Given the description of an element on the screen output the (x, y) to click on. 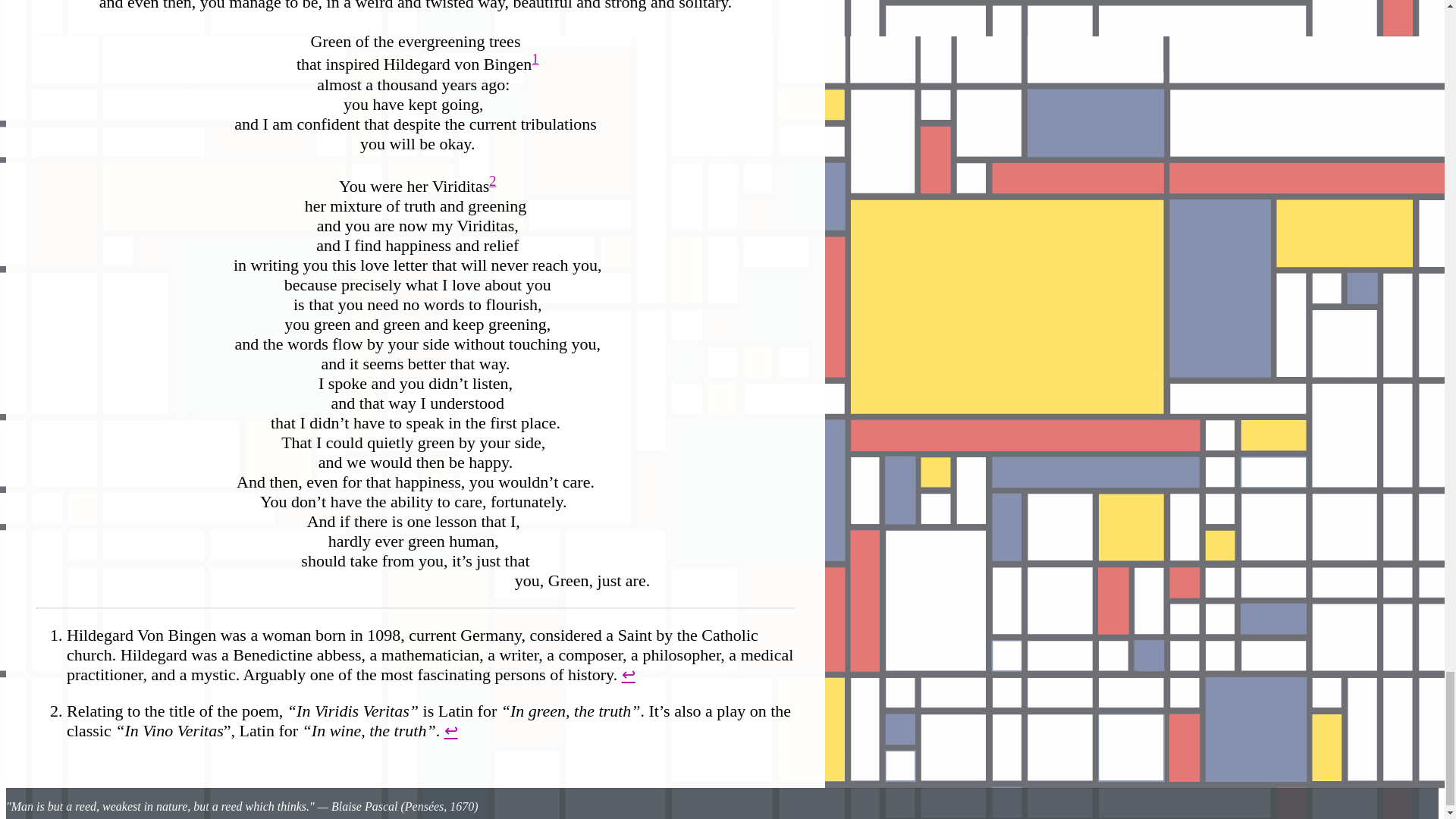
2 (492, 181)
1 (534, 58)
